Given the description of an element on the screen output the (x, y) to click on. 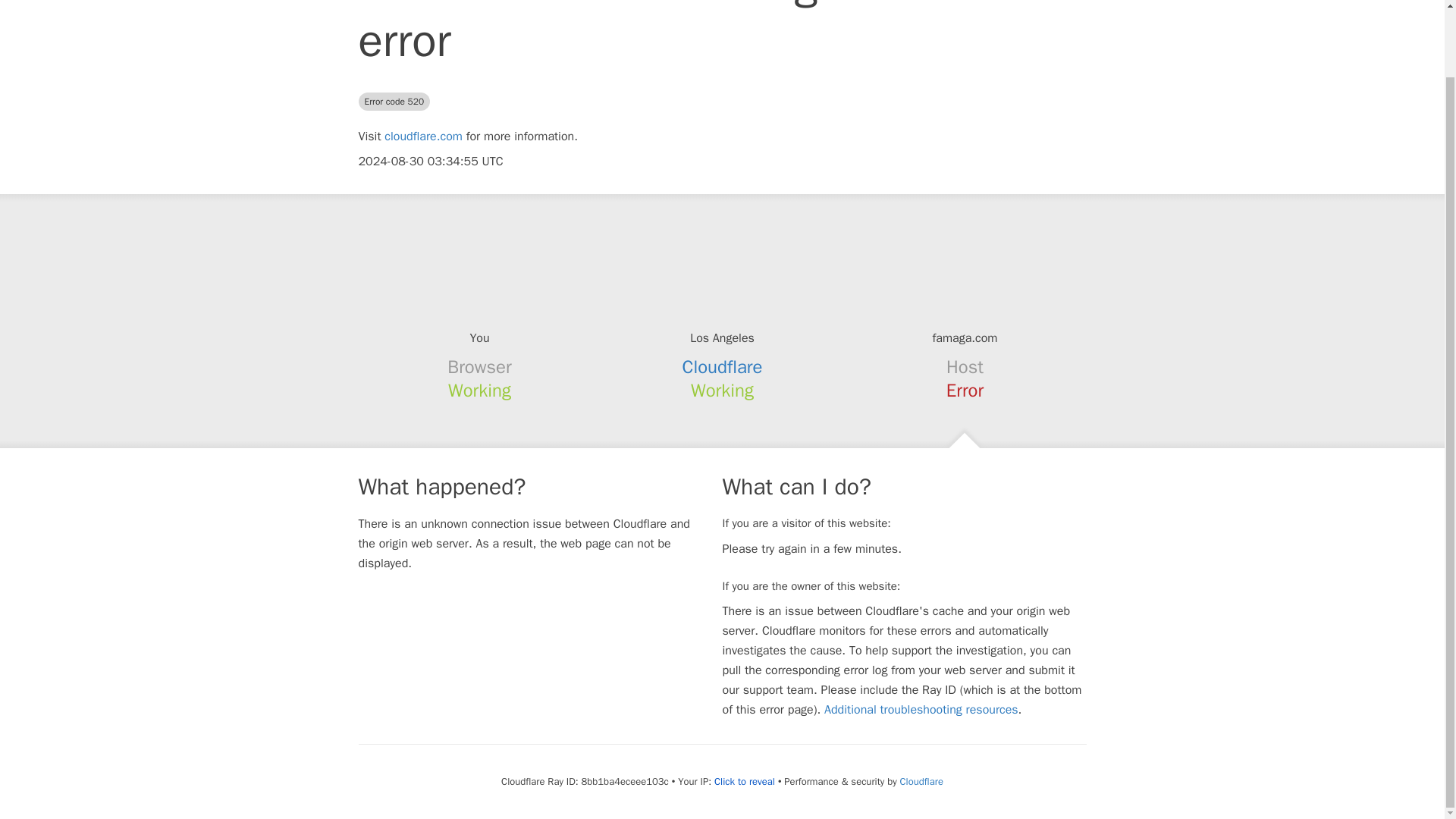
Additional troubleshooting resources (920, 709)
cloudflare.com (423, 136)
Cloudflare (722, 366)
Click to reveal (744, 781)
Cloudflare (921, 780)
